Given the description of an element on the screen output the (x, y) to click on. 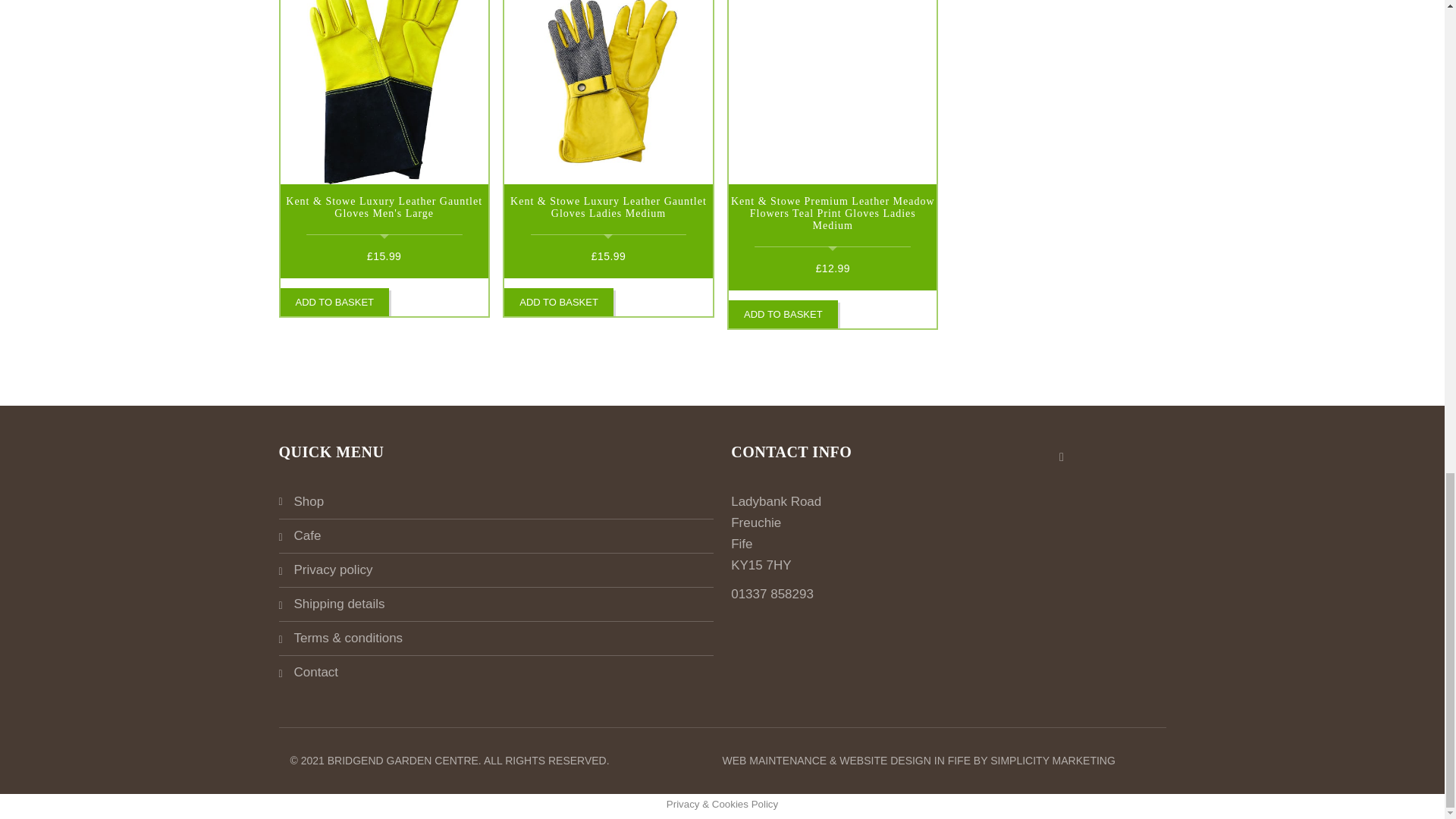
ADD TO BASKET (557, 302)
Facebook (1061, 456)
ADD TO BASKET (335, 302)
